Given the description of an element on the screen output the (x, y) to click on. 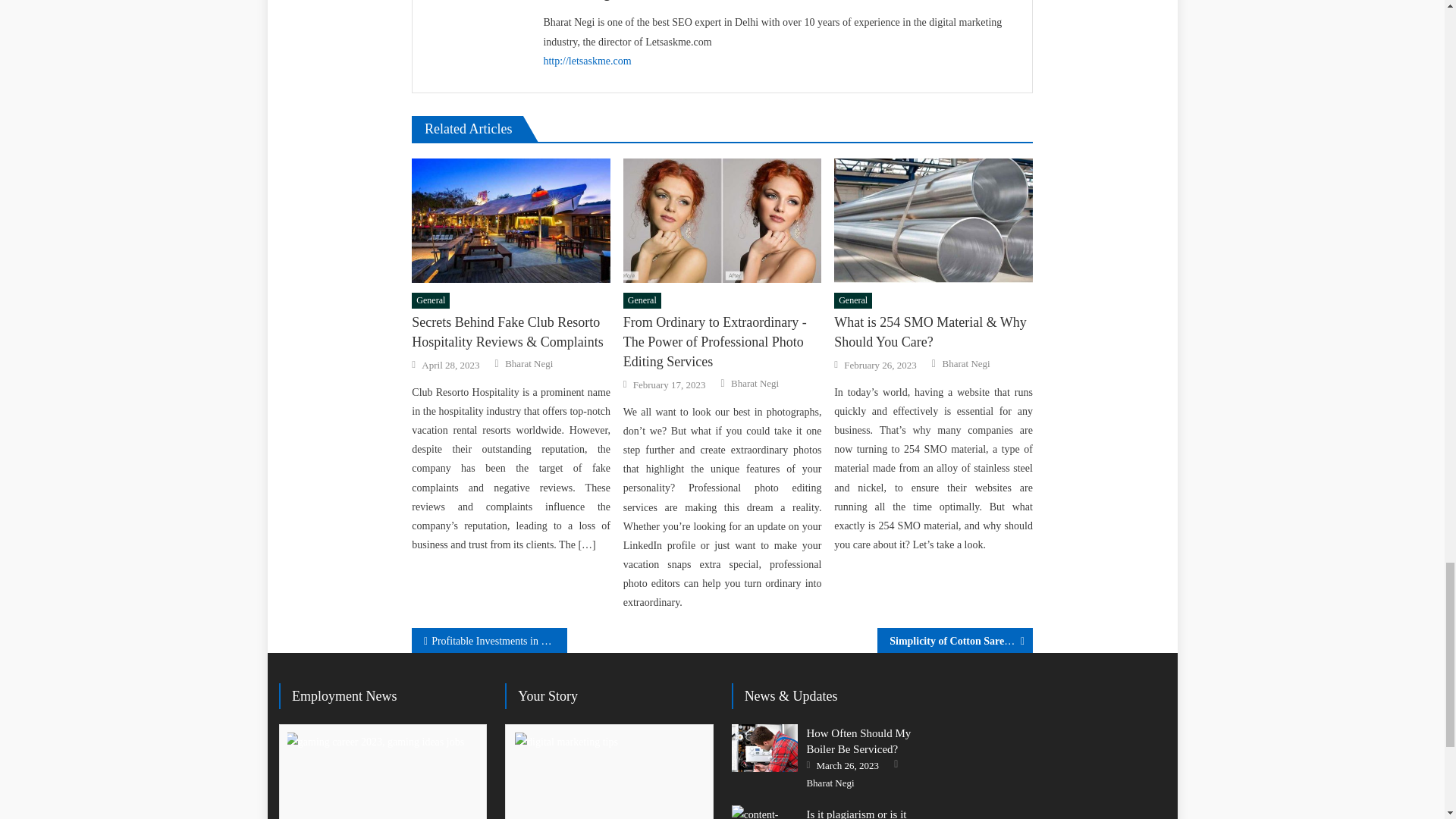
April 28, 2023 (450, 365)
General (642, 300)
General (430, 300)
Bharat Negi (529, 364)
February 17, 2023 (669, 385)
6 Top Careers in the Gaming Industry (379, 775)
Bharat Negi (754, 383)
General (853, 300)
